Given the description of an element on the screen output the (x, y) to click on. 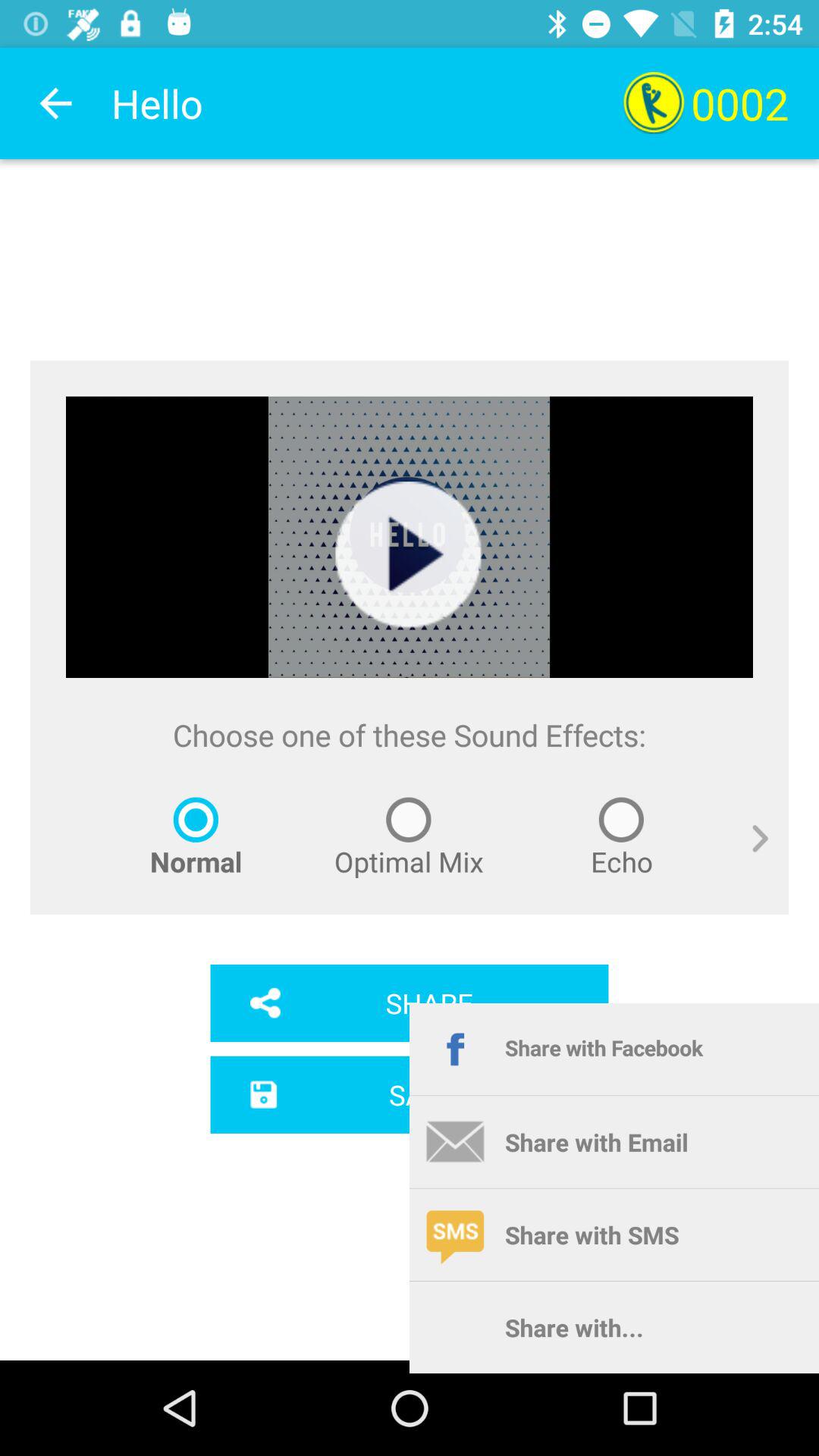
turn on icon next to the stage icon (748, 855)
